Given the description of an element on the screen output the (x, y) to click on. 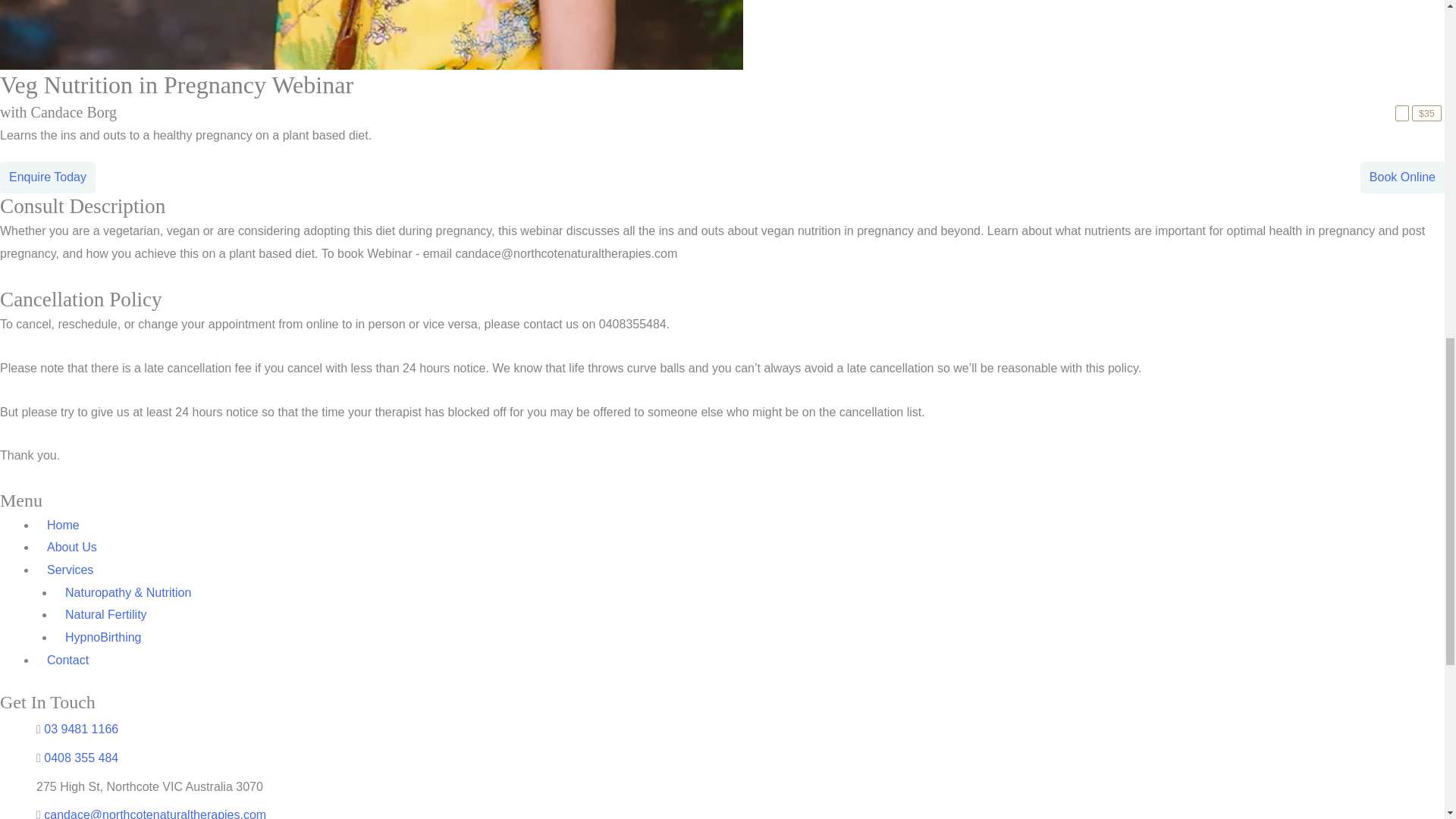
HypnoBirthing (103, 637)
Book Online (1402, 176)
03 9481 1166 (80, 728)
Natural Fertility (106, 614)
Services (69, 569)
Home (63, 524)
Contact (67, 660)
cb-candace-borg (371, 34)
About Us (71, 547)
Enquire Today (46, 176)
